Given the description of an element on the screen output the (x, y) to click on. 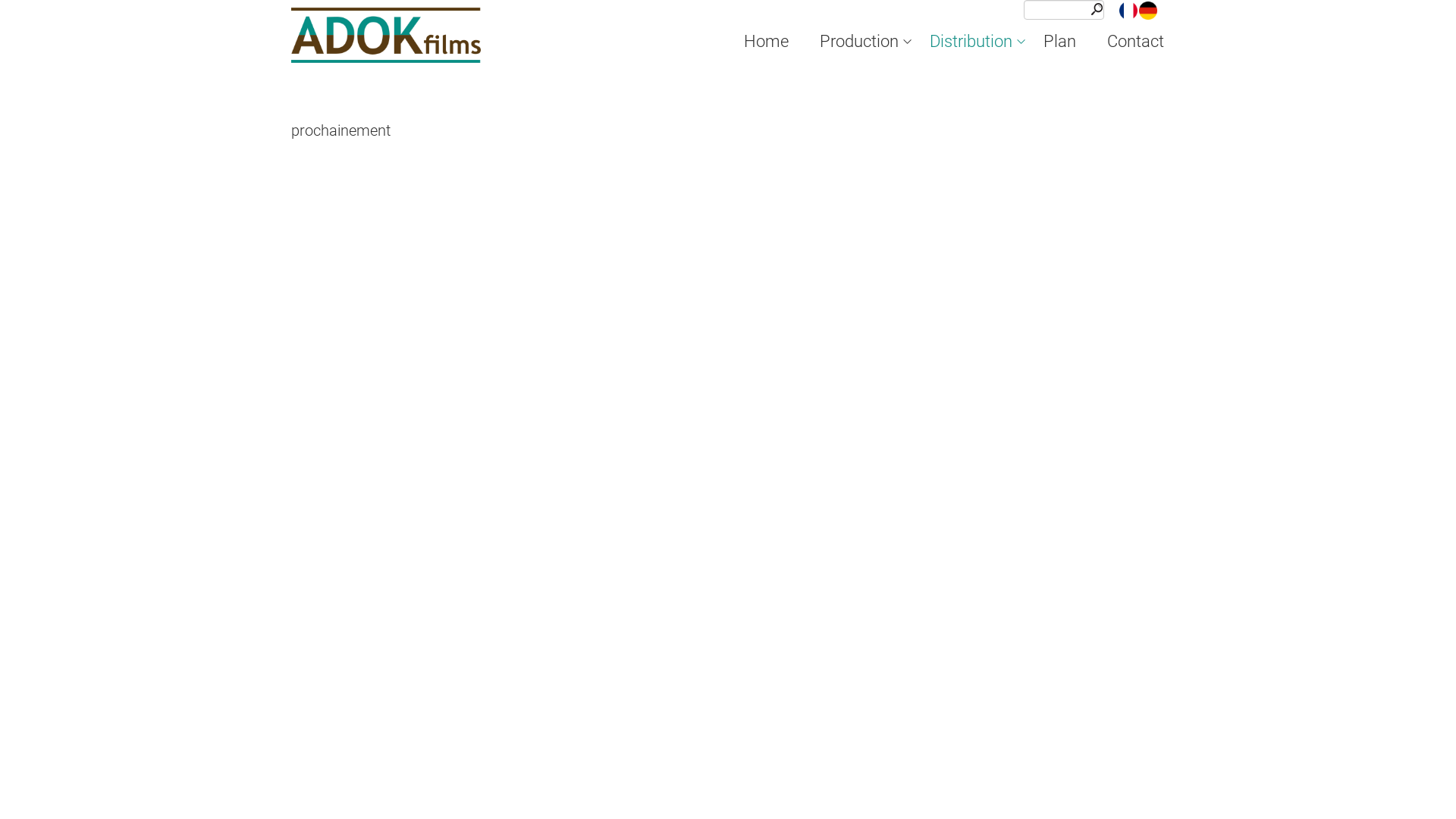
Home Element type: text (765, 40)
Production Element type: text (858, 40)
Contact Element type: text (1135, 40)
Distribution Element type: text (970, 40)
Adok Films Element type: hover (385, 34)
Plan Element type: text (1059, 40)
Deutsch Element type: hover (1148, 16)
